Given the description of an element on the screen output the (x, y) to click on. 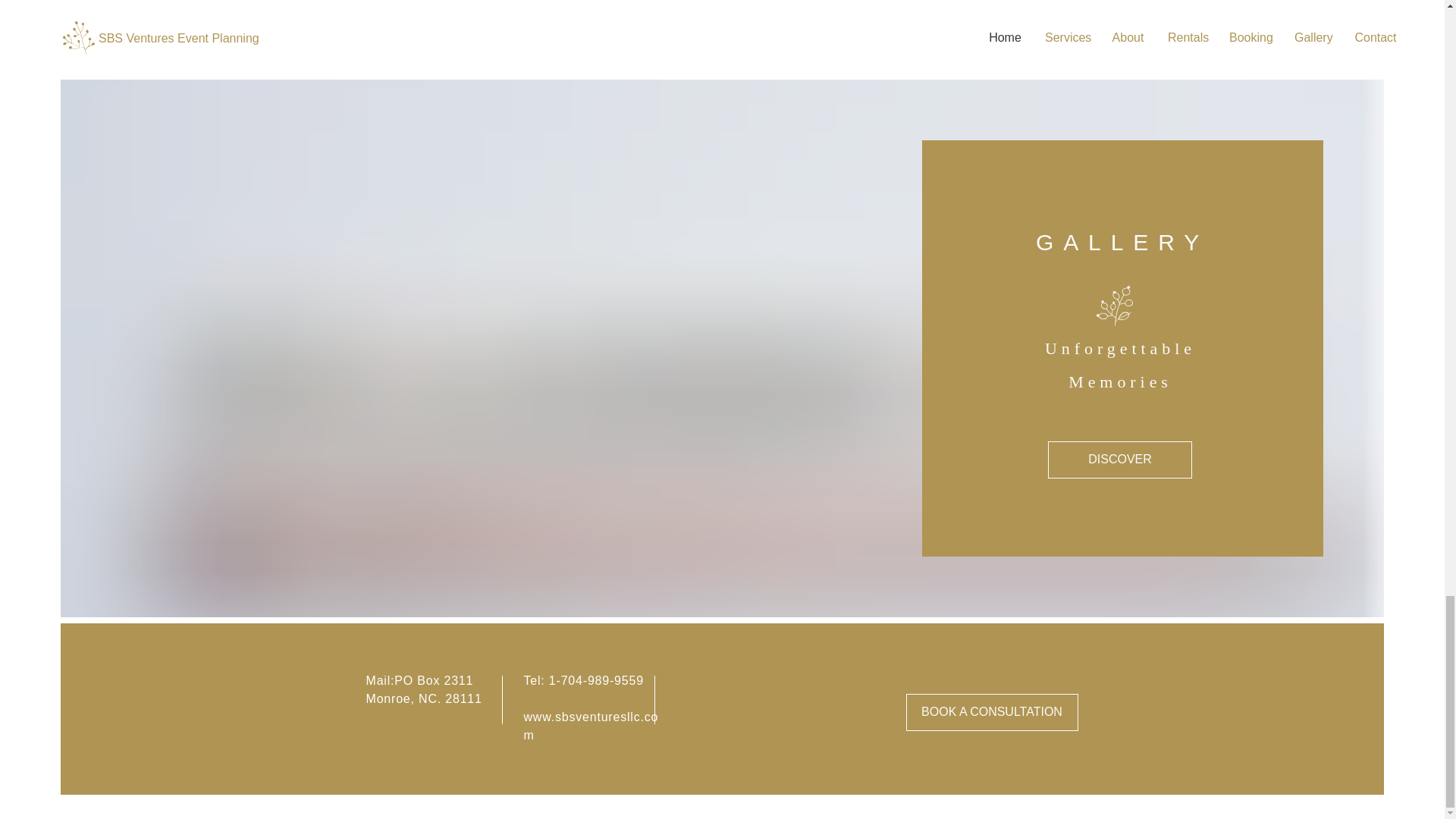
www.sbsventuresllc.com (590, 726)
DISCOVER (1120, 459)
BOOK A CONSULTATION (991, 712)
